Given the description of an element on the screen output the (x, y) to click on. 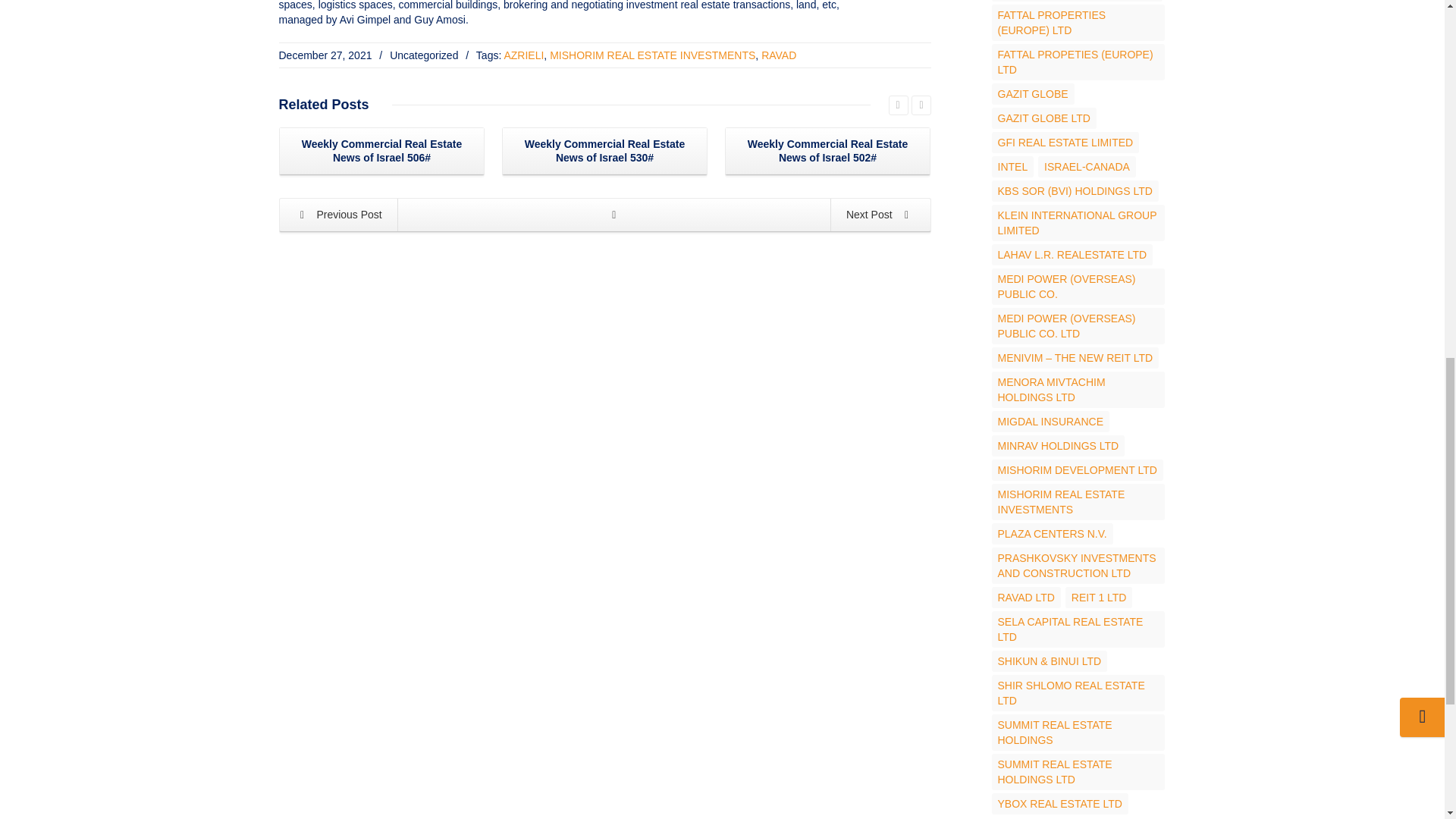
AZRIELI (523, 55)
Go to the blog page (614, 214)
MISHORIM REAL ESTATE INVESTMENTS (652, 55)
RAVAD (778, 55)
